Given the description of an element on the screen output the (x, y) to click on. 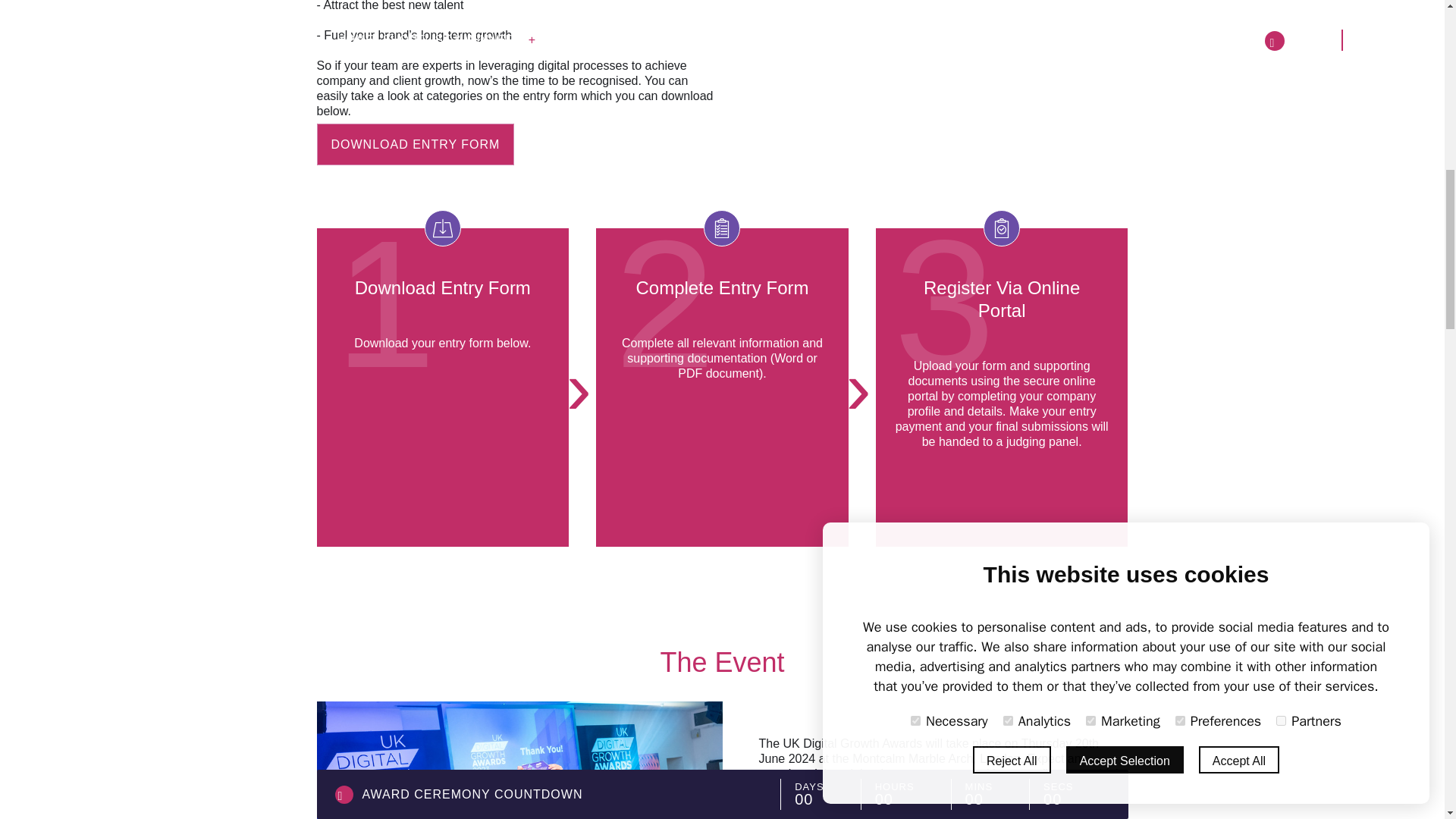
DOWNLOAD ENTRY FORM (416, 144)
UK Digital Growth Awards 2023 - Highights (942, 44)
